Given the description of an element on the screen output the (x, y) to click on. 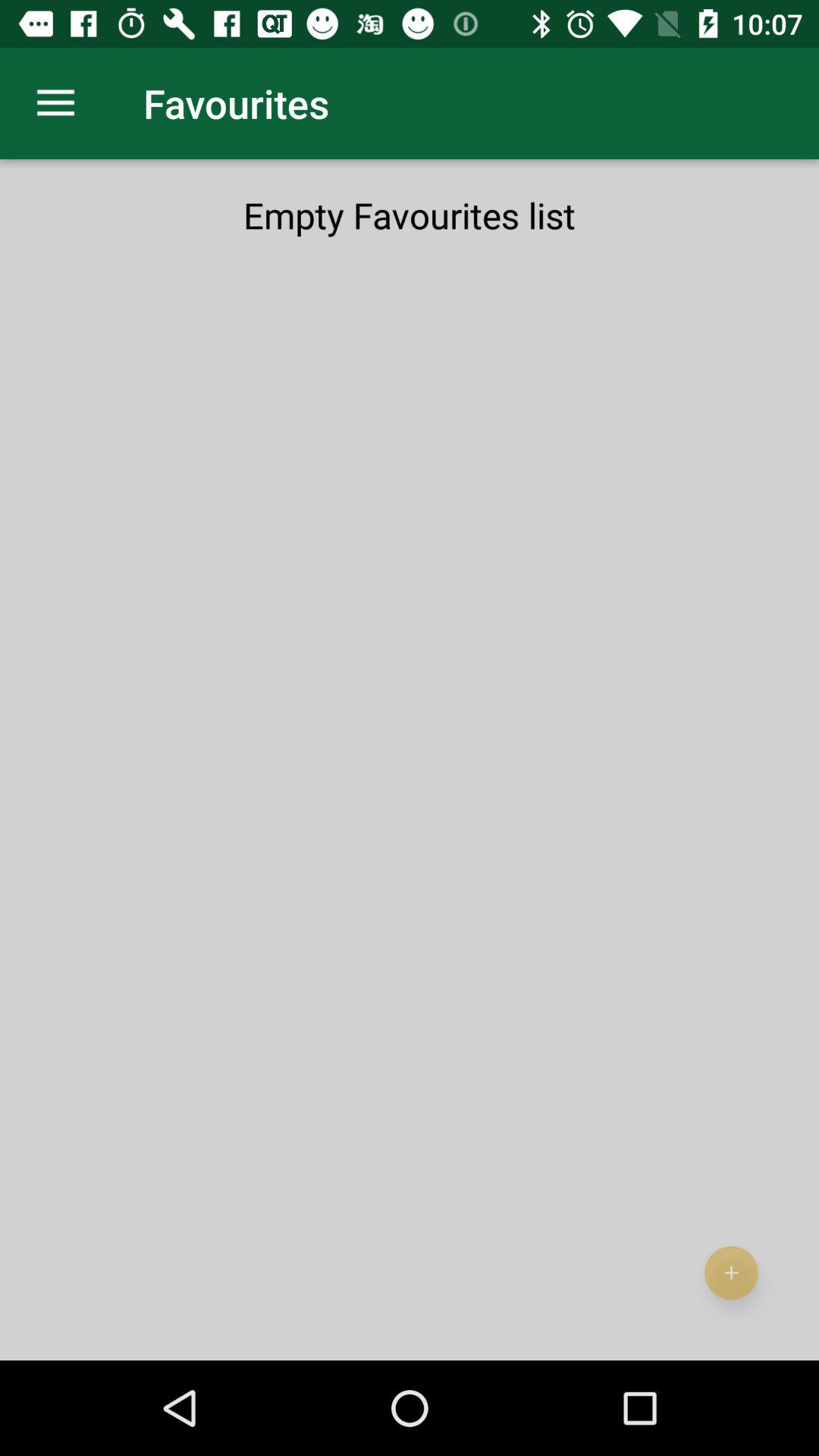
select item above empty favourites list (55, 103)
